Given the description of an element on the screen output the (x, y) to click on. 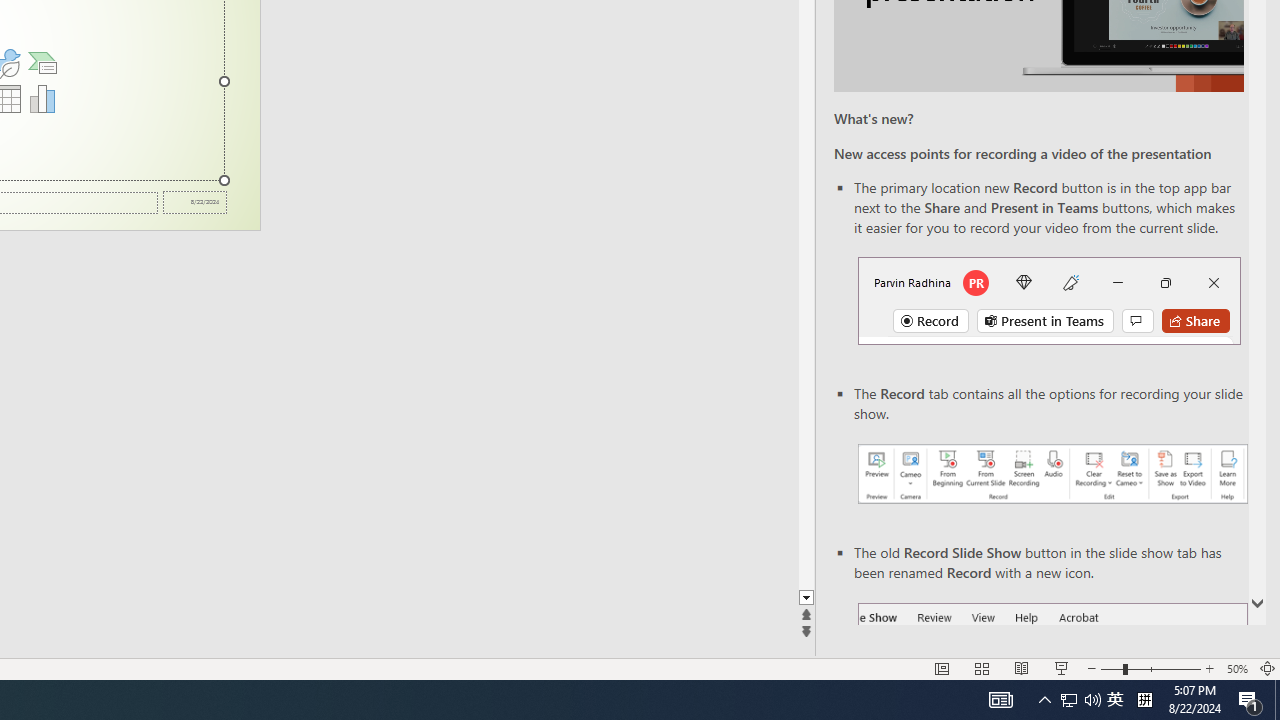
Record button in top bar (1049, 300)
